Given the description of an element on the screen output the (x, y) to click on. 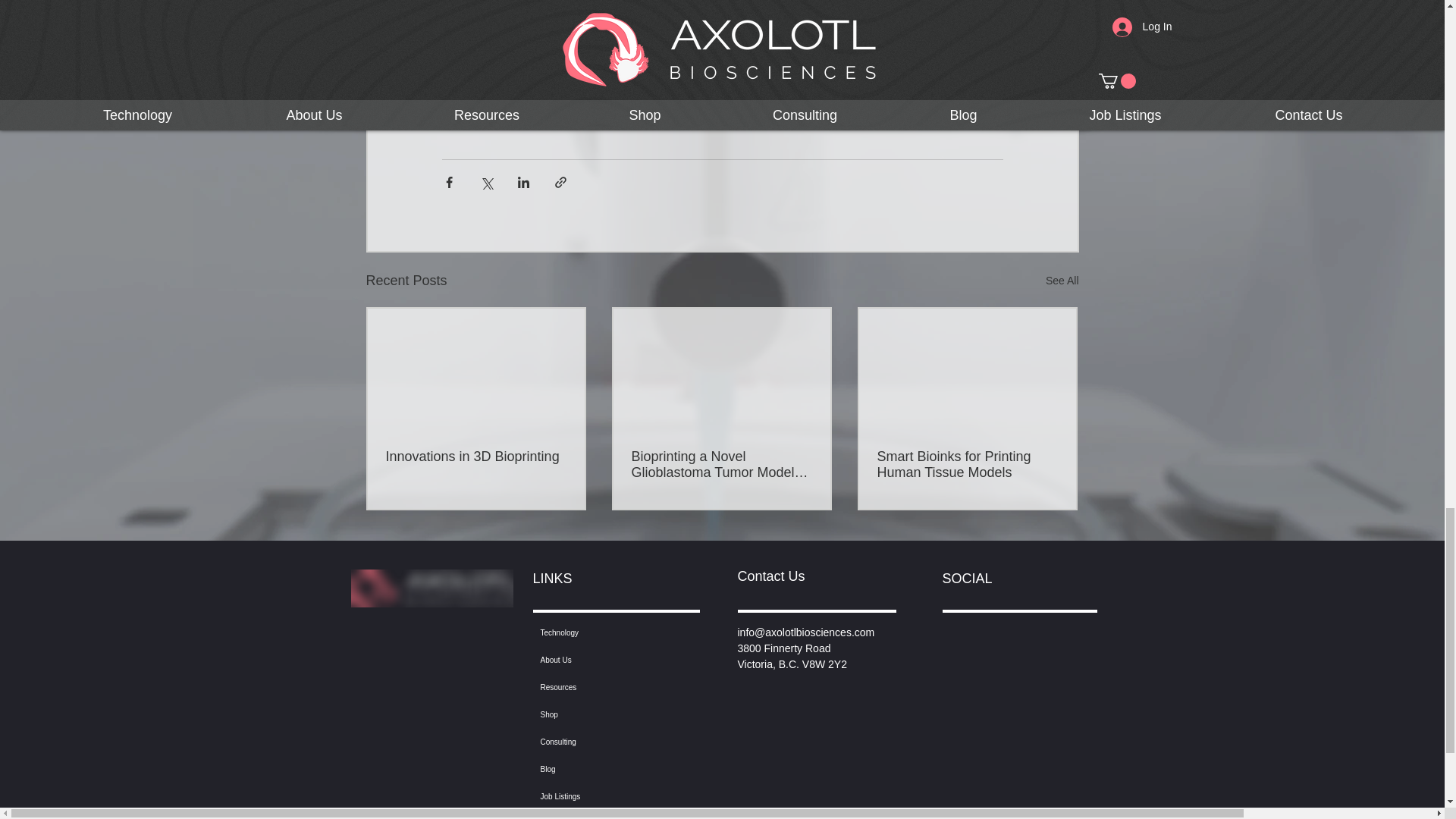
Shop (611, 714)
About Us (611, 660)
AxolotlBioscienceHybridLogo-removebg-preview.png (431, 588)
Resources (611, 687)
Blog (611, 768)
Smart Bioinks for Printing Human Tissue Models (966, 464)
Innovations in 3D Bioprinting (475, 456)
See All (1061, 280)
Technology (611, 633)
Consulting (611, 741)
